Given the description of an element on the screen output the (x, y) to click on. 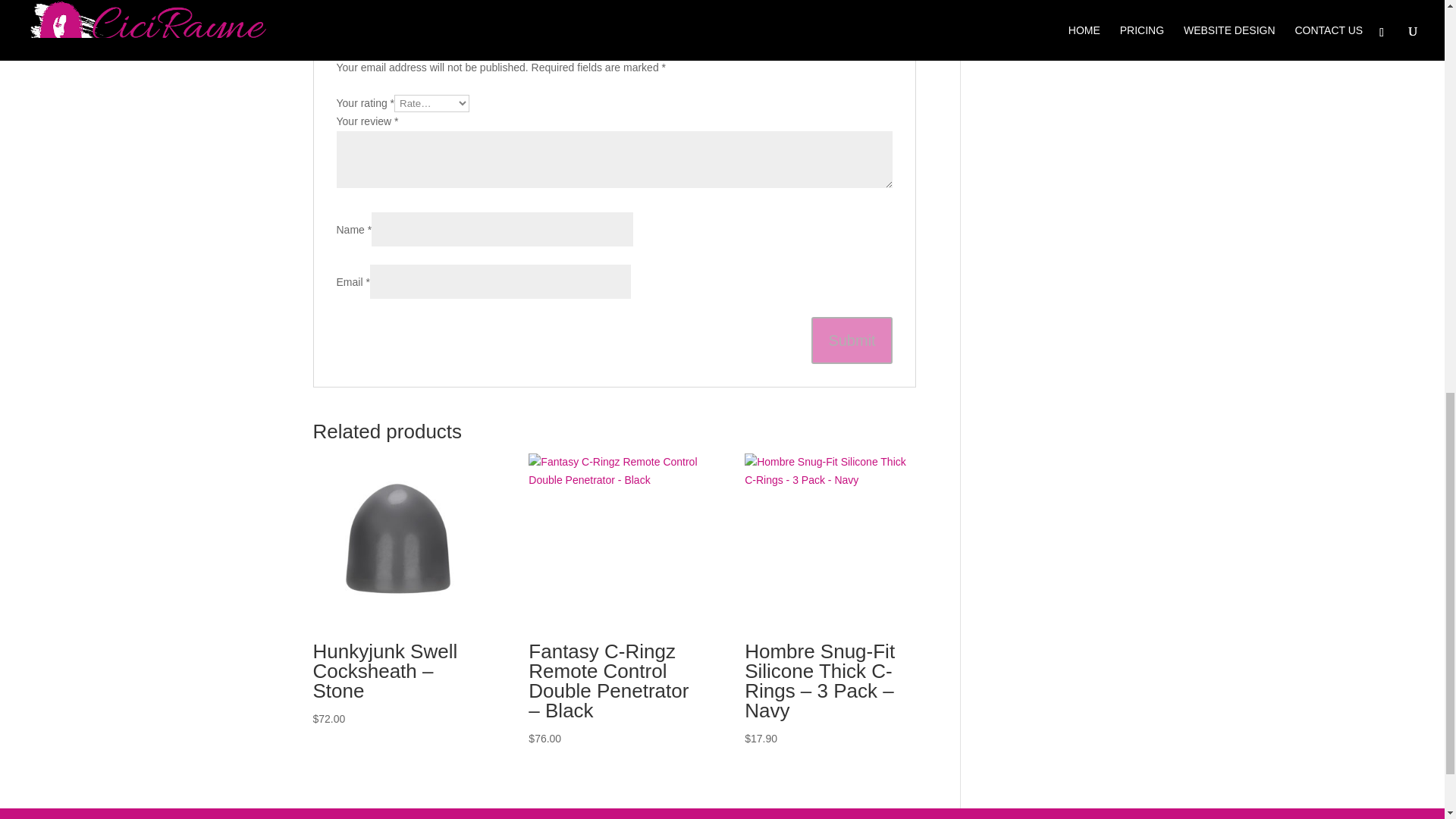
Submit (850, 340)
Submit (850, 340)
